Given the description of an element on the screen output the (x, y) to click on. 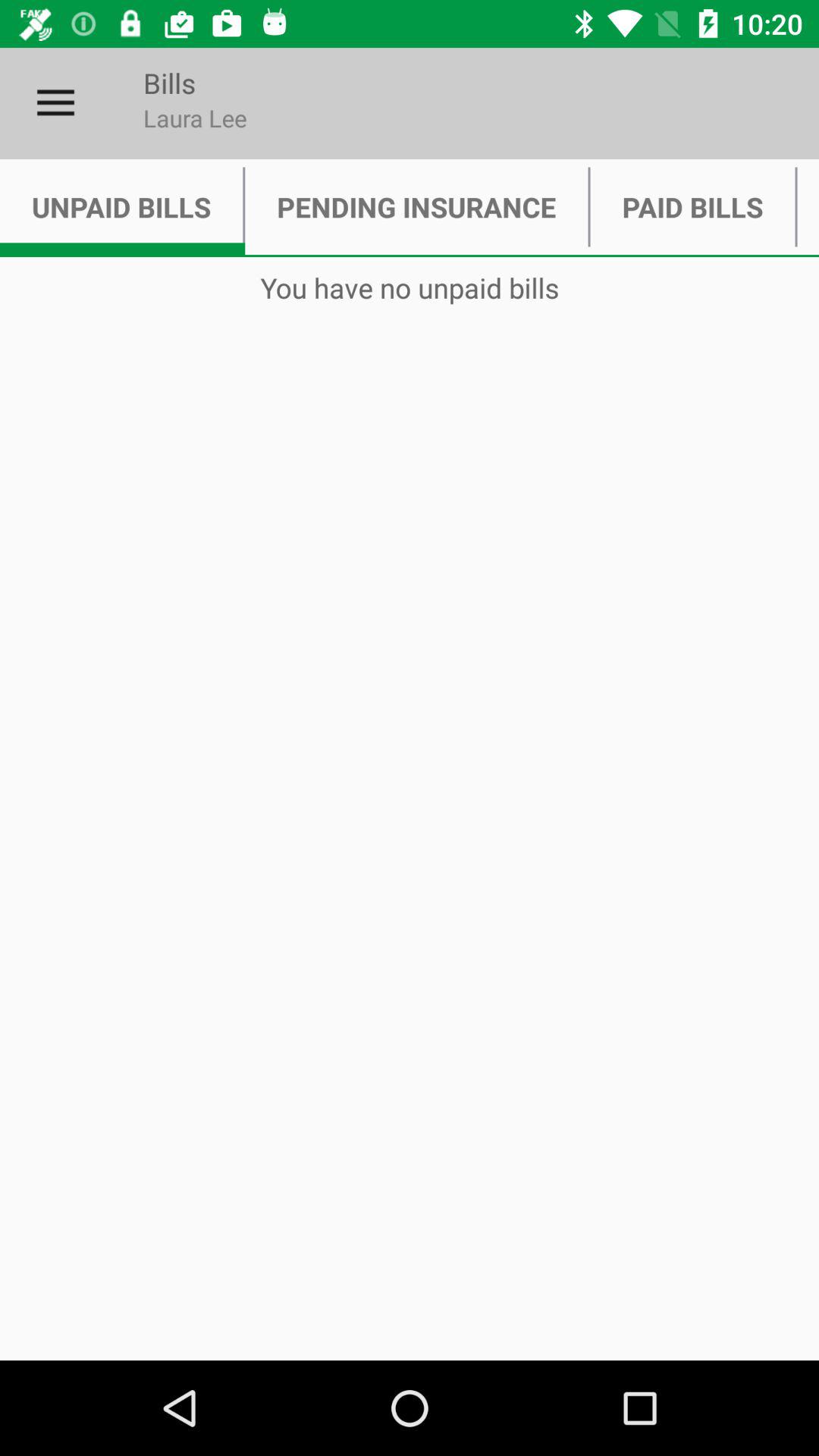
press item next to bills item (55, 103)
